Given the description of an element on the screen output the (x, y) to click on. 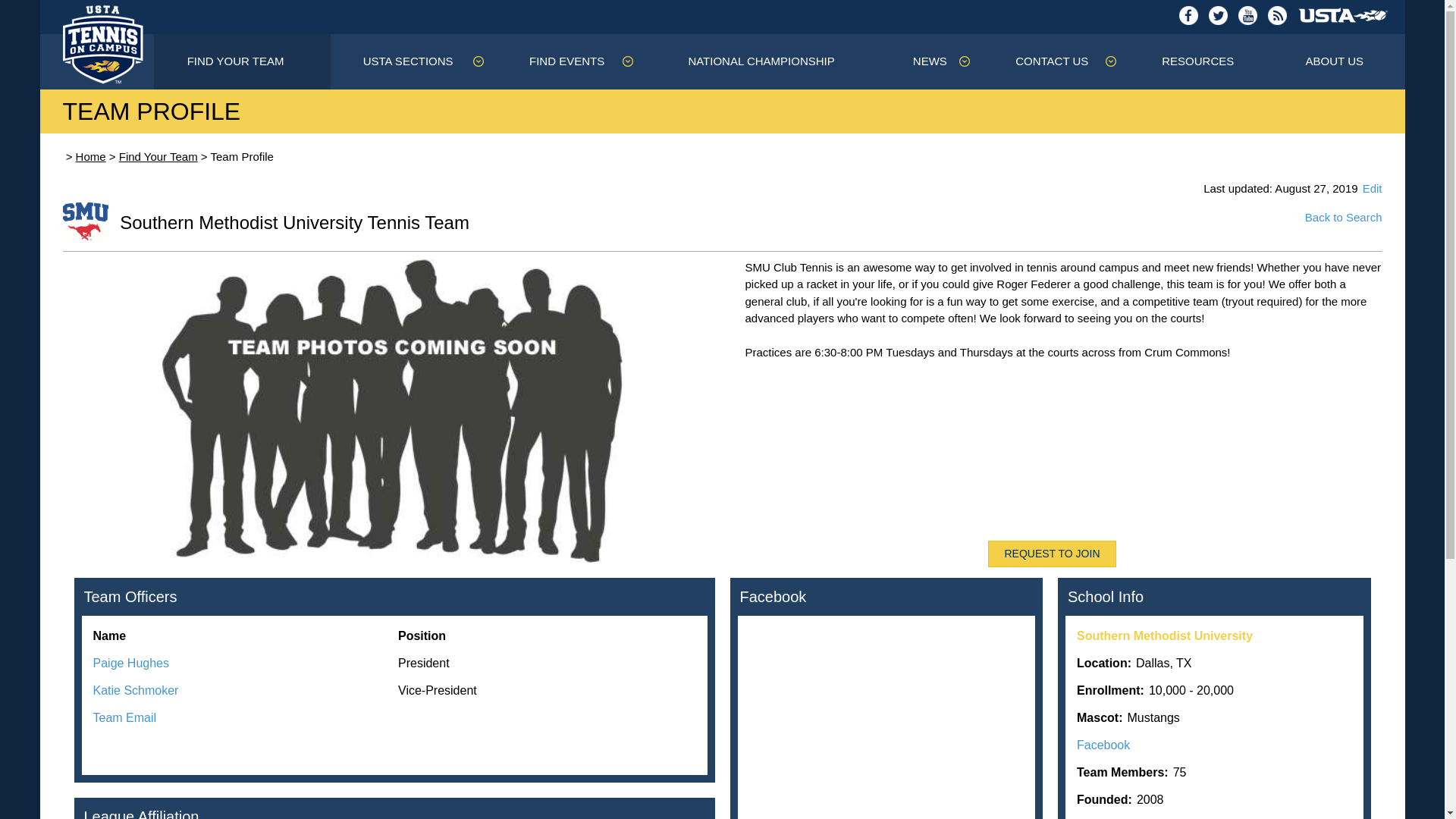
CONTACT US (1058, 61)
Find Your Team (158, 155)
USTA SECTIONS (414, 61)
Edit (1371, 187)
FIND YOUR TEAM (242, 61)
RESOURCES (1203, 61)
NATIONAL CHAMPIONSHIP (767, 61)
Tennis On Campus RSS News Feed (1276, 17)
FIND EVENTS (573, 61)
NEWS (935, 61)
Home (90, 155)
ABOUT US (1340, 61)
